Given the description of an element on the screen output the (x, y) to click on. 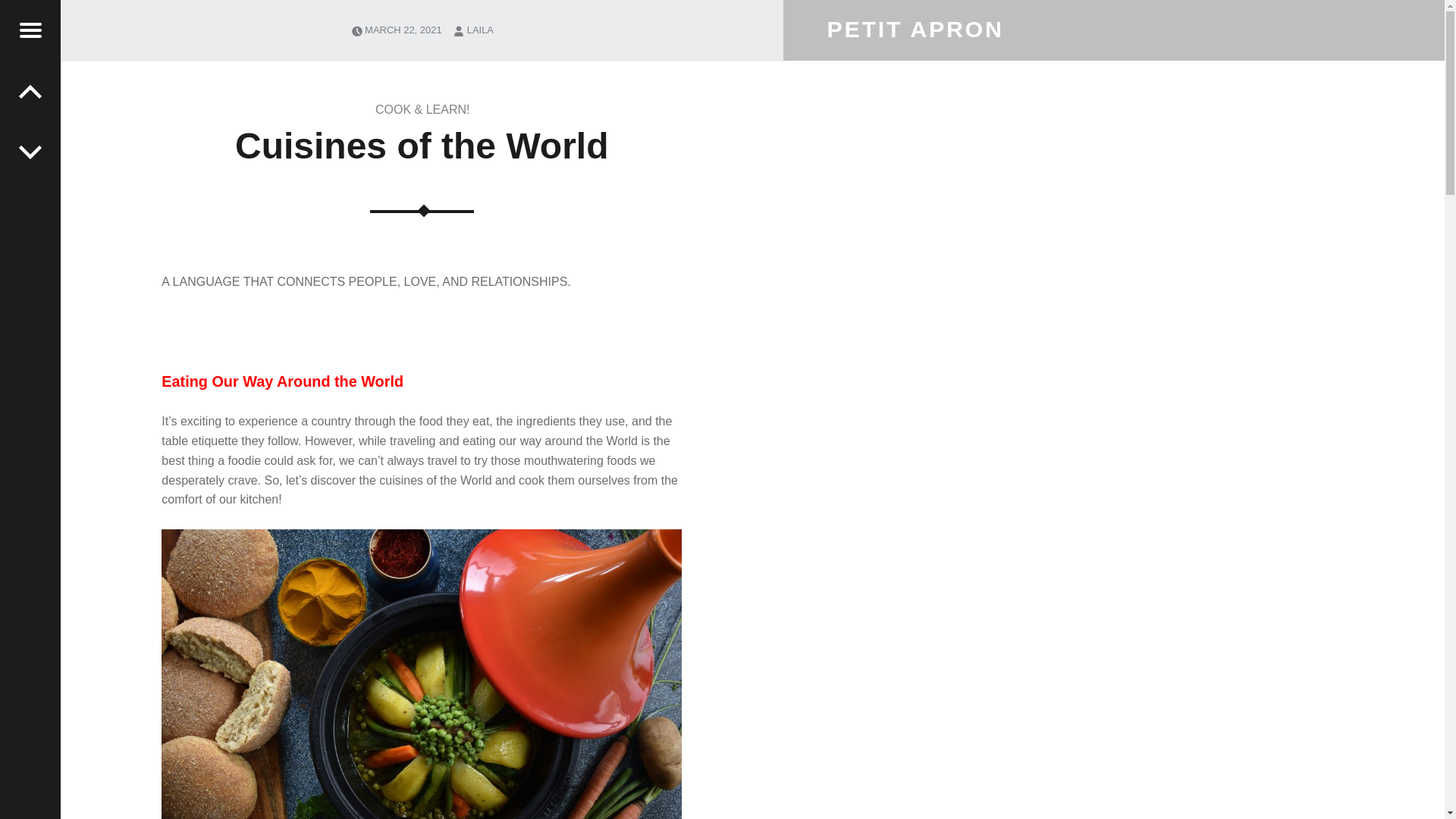
Petit Apron (915, 28)
PETIT APRON (915, 28)
LAILA (480, 30)
